Given the description of an element on the screen output the (x, y) to click on. 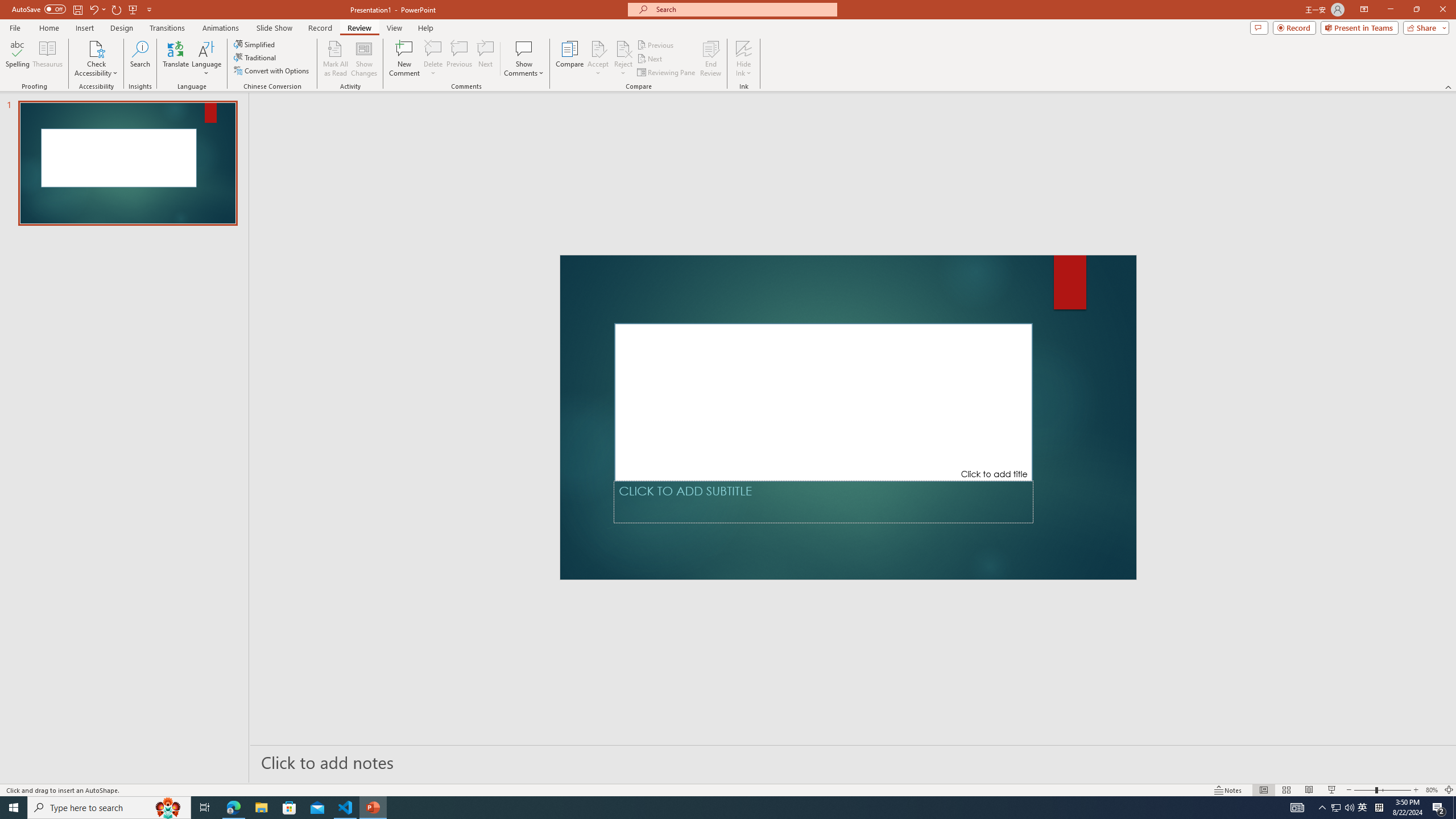
Thesaurus... (47, 58)
Accept Change (598, 48)
Language (206, 58)
Subtitle TextBox (822, 501)
